Given the description of an element on the screen output the (x, y) to click on. 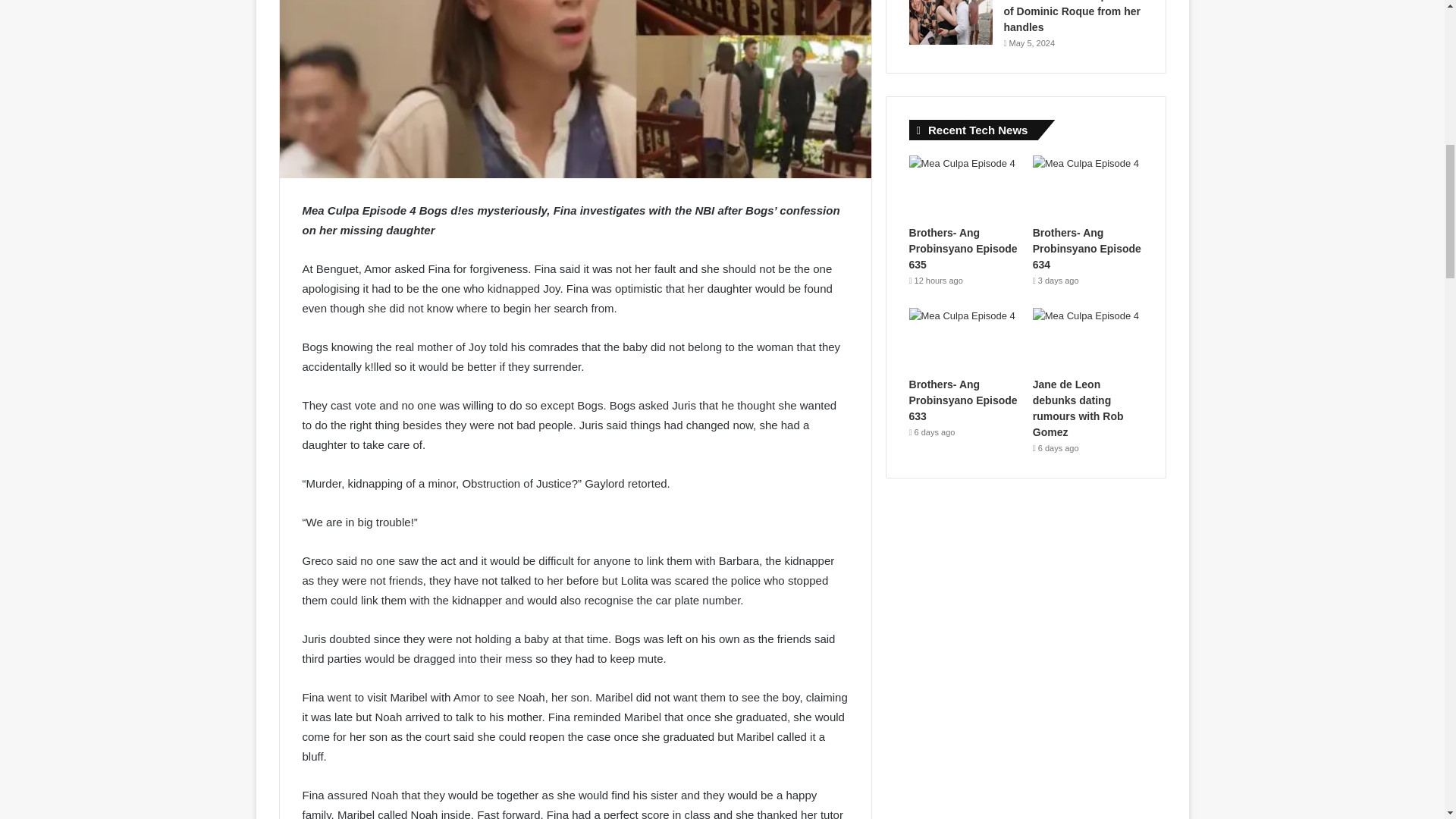
Mea Culpa Episode 4 (574, 89)
